Given the description of an element on the screen output the (x, y) to click on. 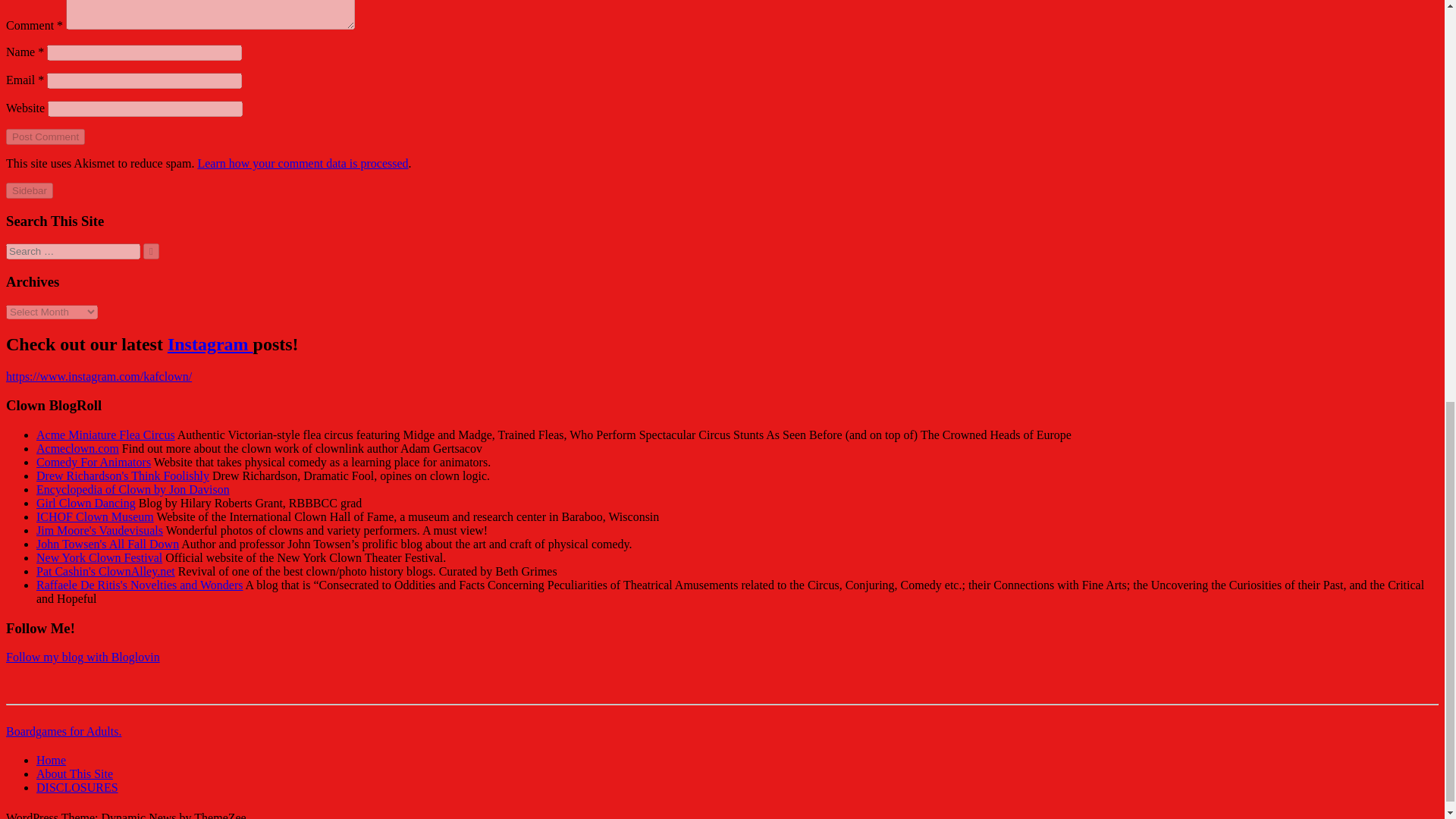
Learn how your comment data is processed (301, 163)
ICHOF Clown Museum (95, 516)
Pat Cashin's ClownAlley.net (105, 571)
Official website of the New York Clown Theater Festival. (98, 557)
Follow my blog with Bloglovin (82, 656)
Acme Miniature Flea Circus (105, 434)
Sidebar (28, 190)
Blog by Hilary Roberts Grant, RBBBCC grad (85, 502)
Acmeclown.com (77, 448)
Raffaele De Ritis's Novelties and Wonders (139, 584)
Jim Moore's Vaudevisuals (99, 530)
Girl Clown Dancing (85, 502)
John Towsen's All Fall Down (107, 543)
Post Comment (44, 136)
